Given the description of an element on the screen output the (x, y) to click on. 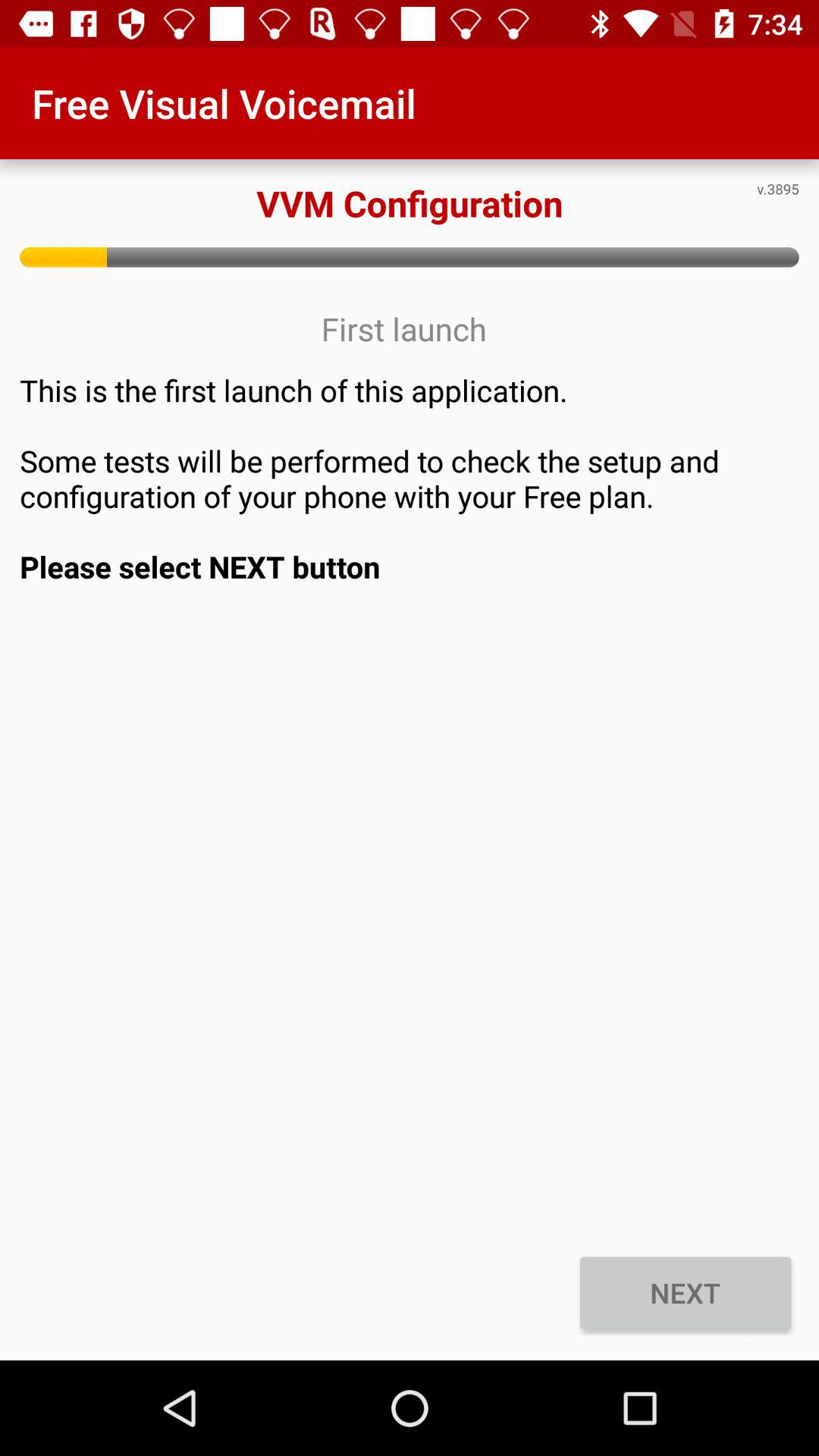
click next icon (685, 1292)
